Given the description of an element on the screen output the (x, y) to click on. 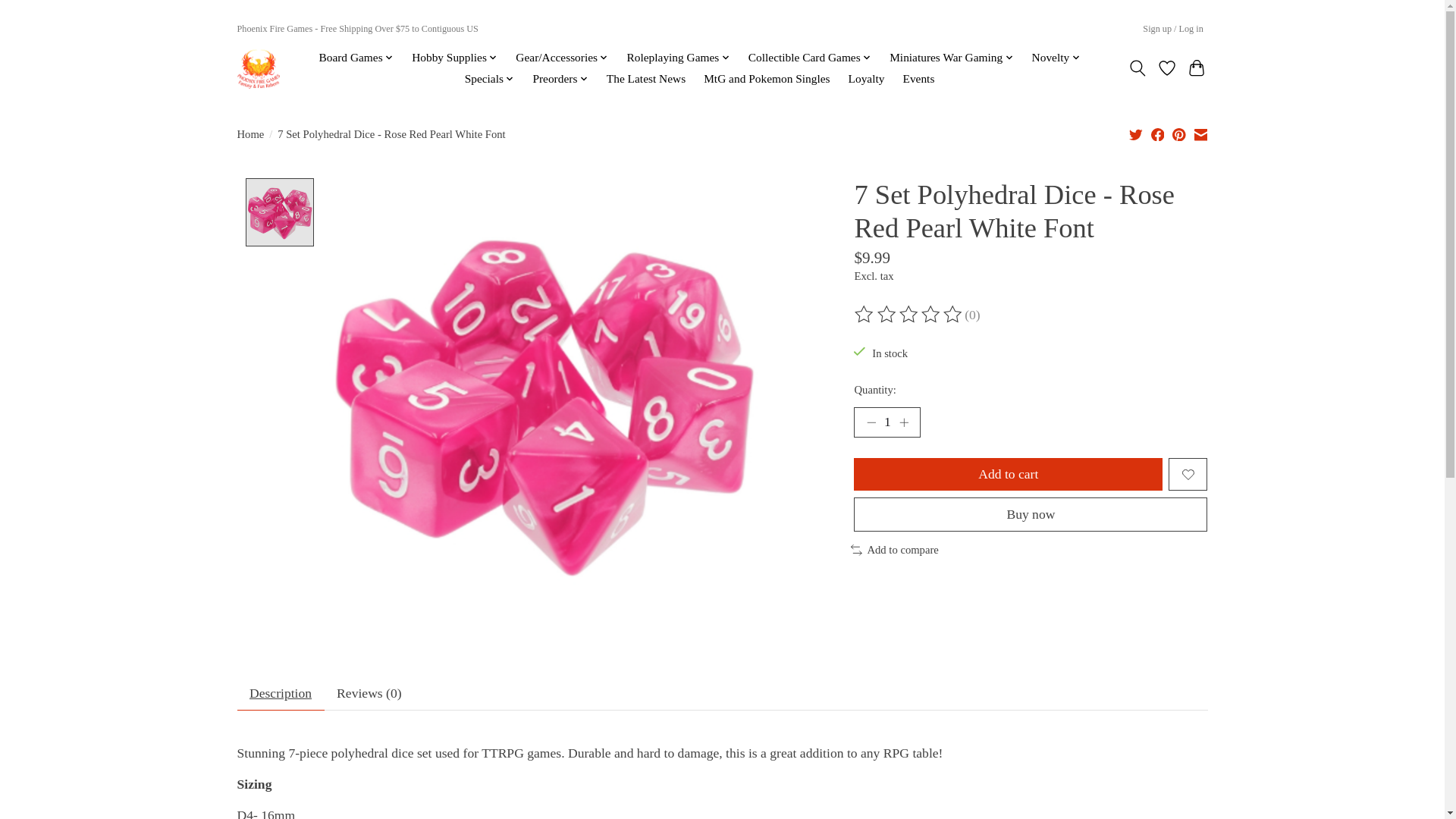
Phoenix Fire Games (257, 67)
Share on Facebook (1157, 133)
Share on Twitter (1135, 133)
Board Games (355, 56)
Hobby Supplies (454, 56)
1 (886, 422)
Share by Email (1200, 133)
My account (1173, 28)
Share on Pinterest (1178, 133)
